Given the description of an element on the screen output the (x, y) to click on. 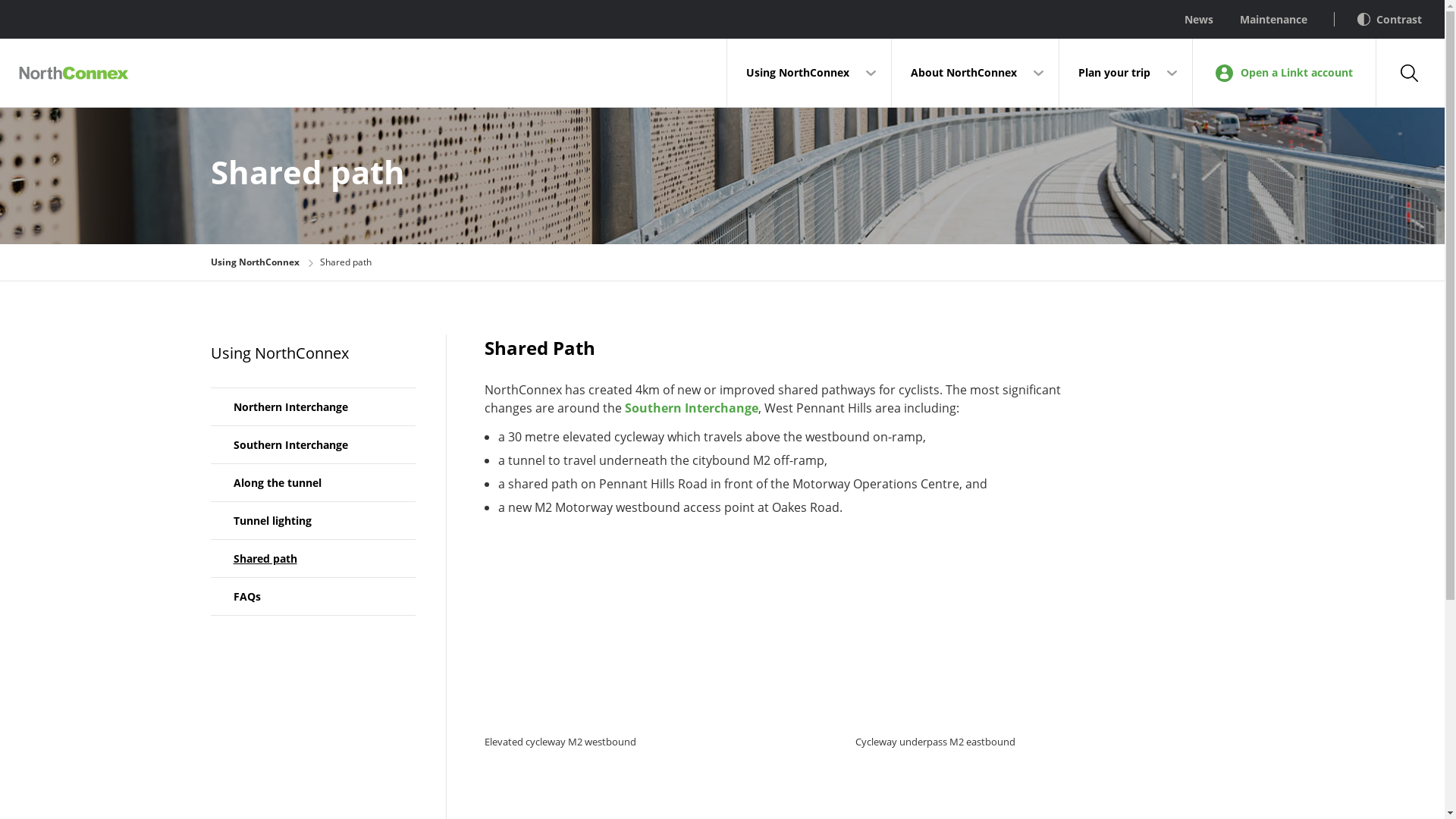
About NorthConnex Element type: text (974, 72)
Along the tunnel Element type: text (312, 482)
Southern Interchange Element type: text (312, 444)
Maintenance Element type: text (1260, 19)
Plan your trip Element type: text (1125, 72)
FAQs Element type: text (312, 596)
Open a Linkt account Element type: text (1283, 72)
Contrast Element type: text (1377, 19)
Southern Interchange Element type: text (691, 407)
Using NorthConnex Element type: text (254, 261)
News Element type: text (1185, 19)
Northern Interchange Element type: text (312, 406)
Using NorthConnex Element type: text (809, 72)
Tunnel lighting Element type: text (312, 520)
Show search button Element type: text (1410, 72)
Shared path Element type: text (312, 558)
Using NorthConnex Element type: text (279, 352)
